Given the description of an element on the screen output the (x, y) to click on. 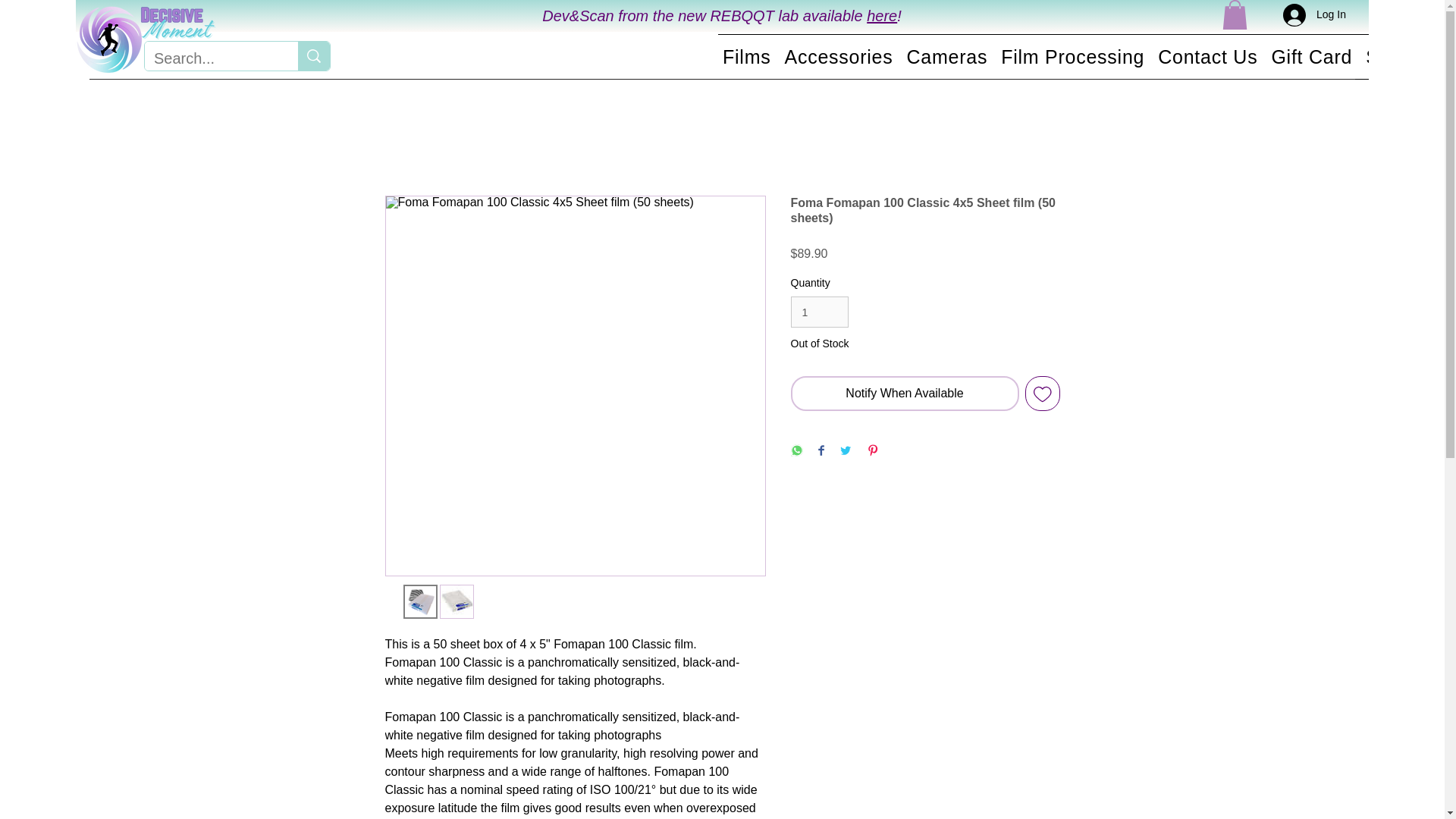
Cameras (946, 56)
1 (818, 311)
Click here to go back to homepage (144, 40)
Log In (1313, 15)
Contact Us (1207, 56)
here (881, 15)
